Given the description of an element on the screen output the (x, y) to click on. 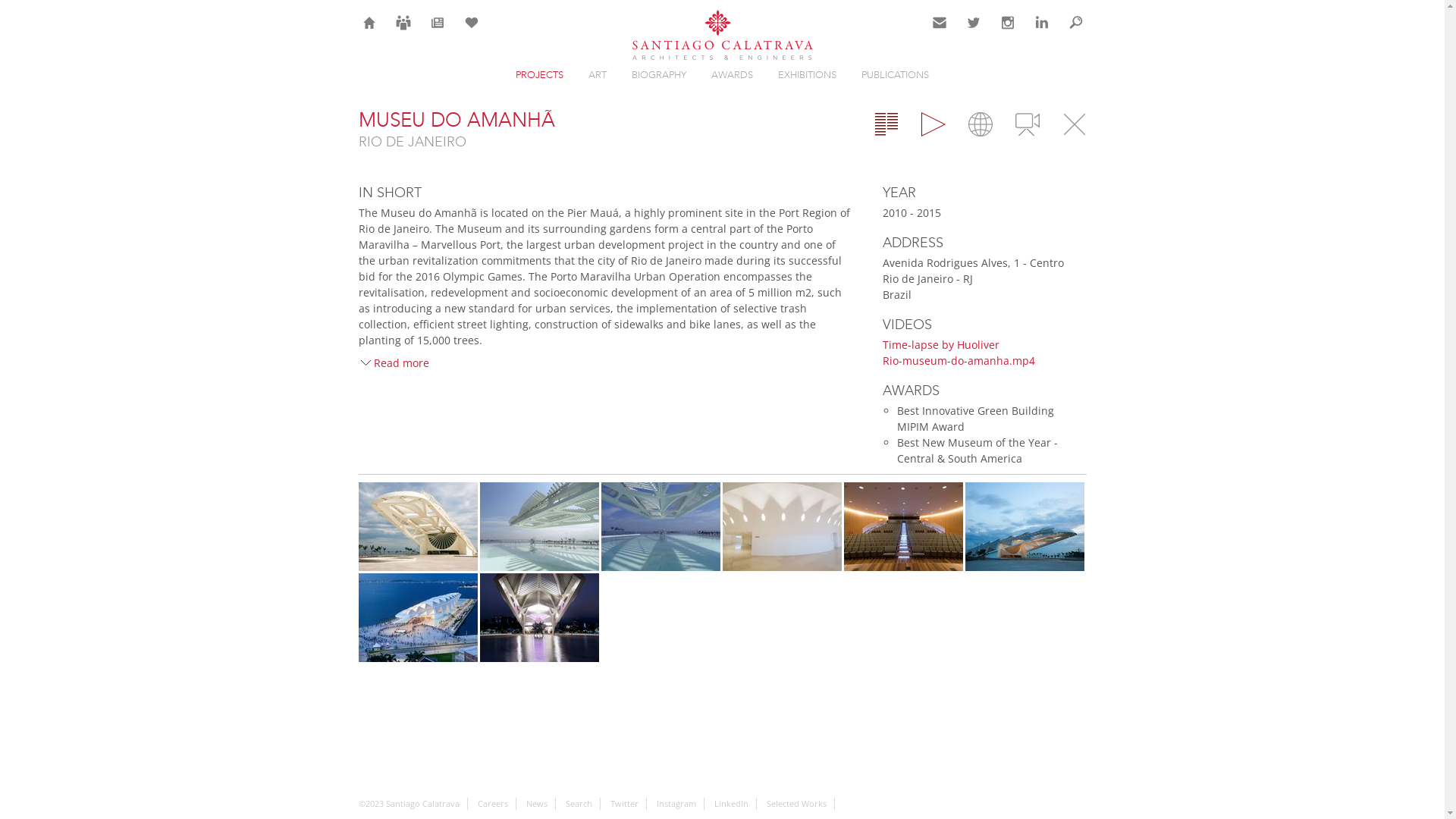
News Element type: text (436, 22)
Instagram Element type: text (676, 803)
News Element type: text (536, 803)
Search Element type: text (578, 803)
Twitter Element type: text (973, 22)
ART Element type: text (597, 74)
Twitter Element type: text (623, 803)
Videos Element type: text (1026, 124)
Close Element type: text (1073, 124)
LinkedIn Element type: text (1041, 22)
Rio-museum-do-amanha.mp4 Element type: text (958, 360)
Contact Element type: text (938, 22)
PUBLICATIONS Element type: text (895, 74)
Gallery Element type: text (932, 124)
Instagram Element type: text (1006, 22)
Map Element type: text (979, 124)
AWARDS Element type: text (731, 74)
Careers Element type: text (403, 22)
EXHIBITIONS Element type: text (806, 74)
Home Element type: text (368, 22)
Careers Element type: text (492, 803)
Time-lapse by Huoliver Element type: text (940, 344)
BIOGRAPHY Element type: text (658, 74)
PROJECTS Element type: text (539, 74)
Selection Element type: text (471, 22)
Search Element type: text (1074, 22)
LinkedIn Element type: text (731, 803)
Back to the Homepage Element type: hover (721, 35)
Read more Element type: text (392, 362)
Selected Works Element type: text (795, 803)
